Given the description of an element on the screen output the (x, y) to click on. 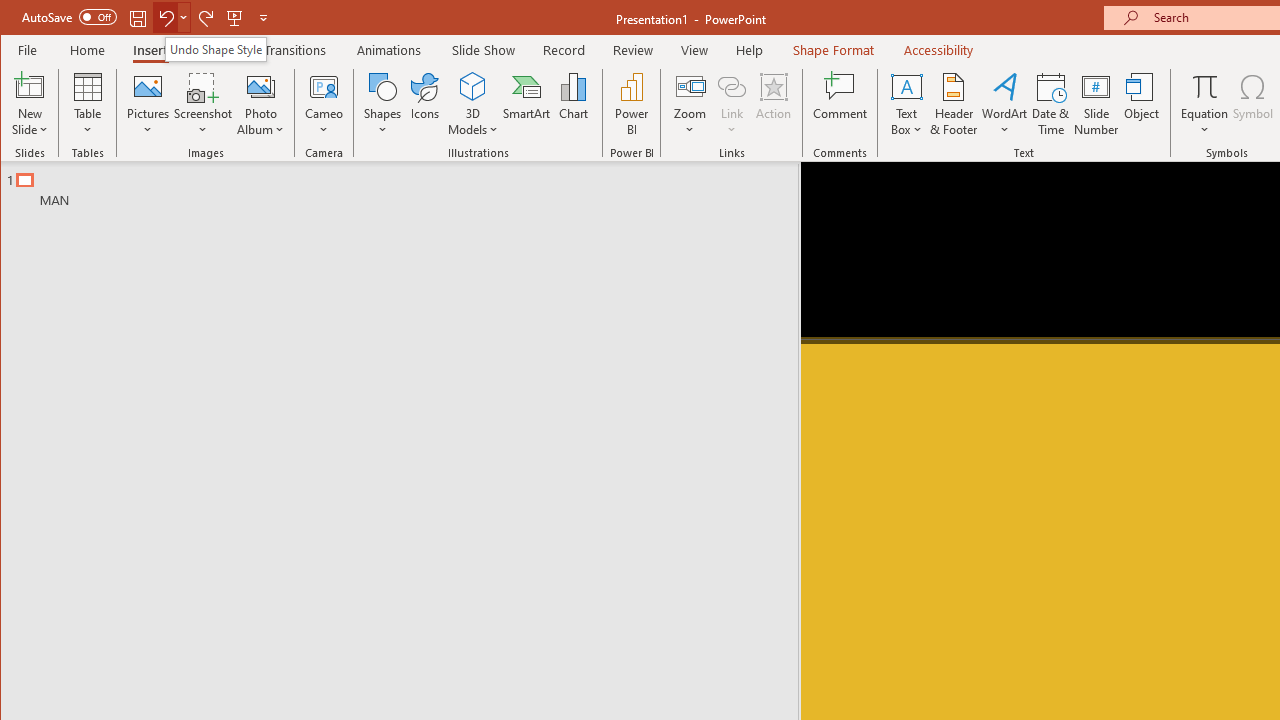
Symbol... (1253, 104)
Comment (840, 104)
Date & Time... (1051, 104)
Transitions (294, 50)
Icons (424, 104)
New Photo Album... (260, 86)
Object... (1142, 104)
Draw Horizontal Text Box (906, 86)
From Beginning (235, 17)
Cameo (324, 86)
Quick Access Toolbar (146, 17)
